Given the description of an element on the screen output the (x, y) to click on. 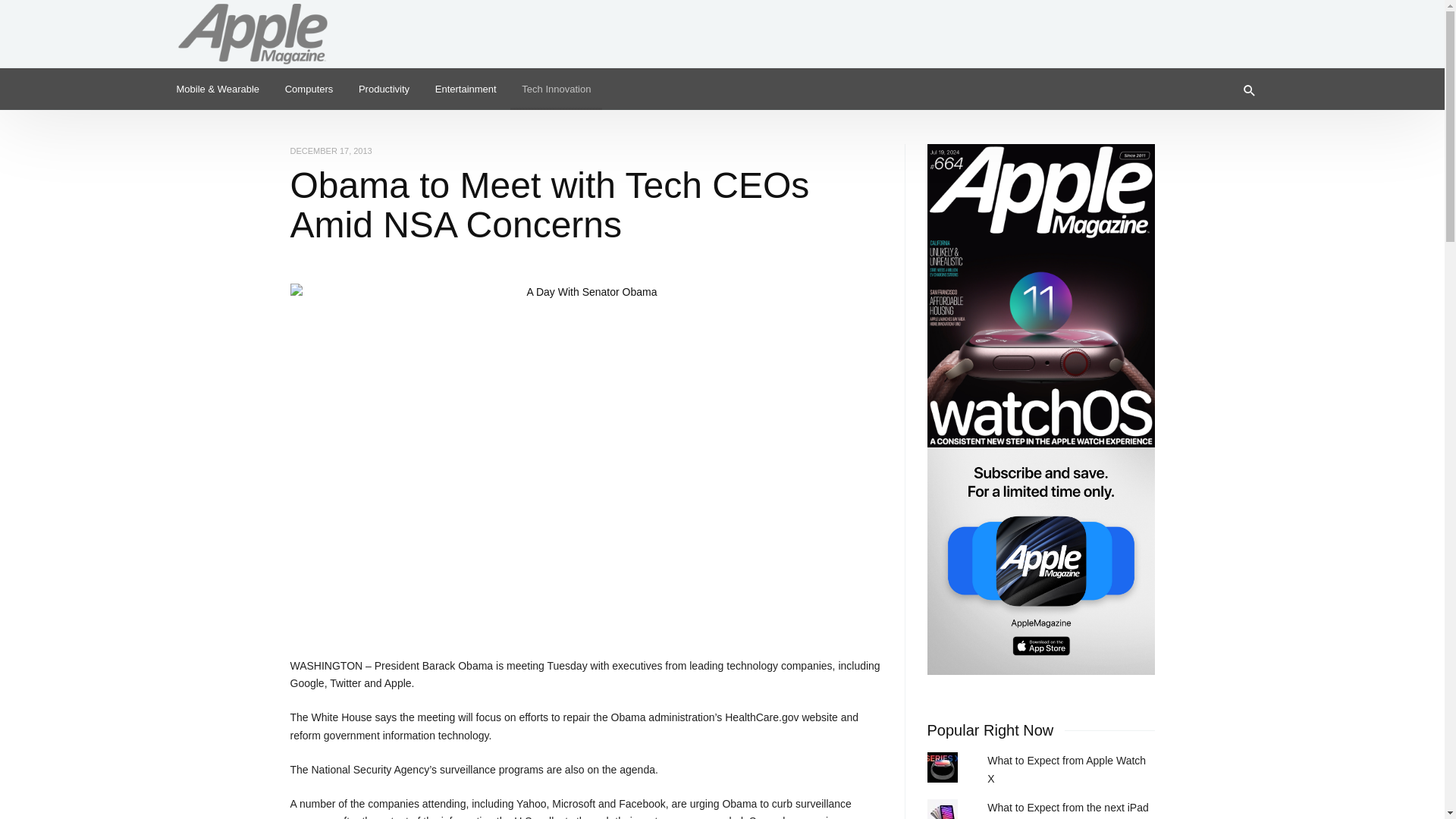
Instagram (1228, 26)
Tech Innovation (556, 88)
Twitter (1203, 26)
Productivity (383, 88)
Computers (309, 88)
Facebook (1252, 26)
Entertainment (465, 88)
